Given the description of an element on the screen output the (x, y) to click on. 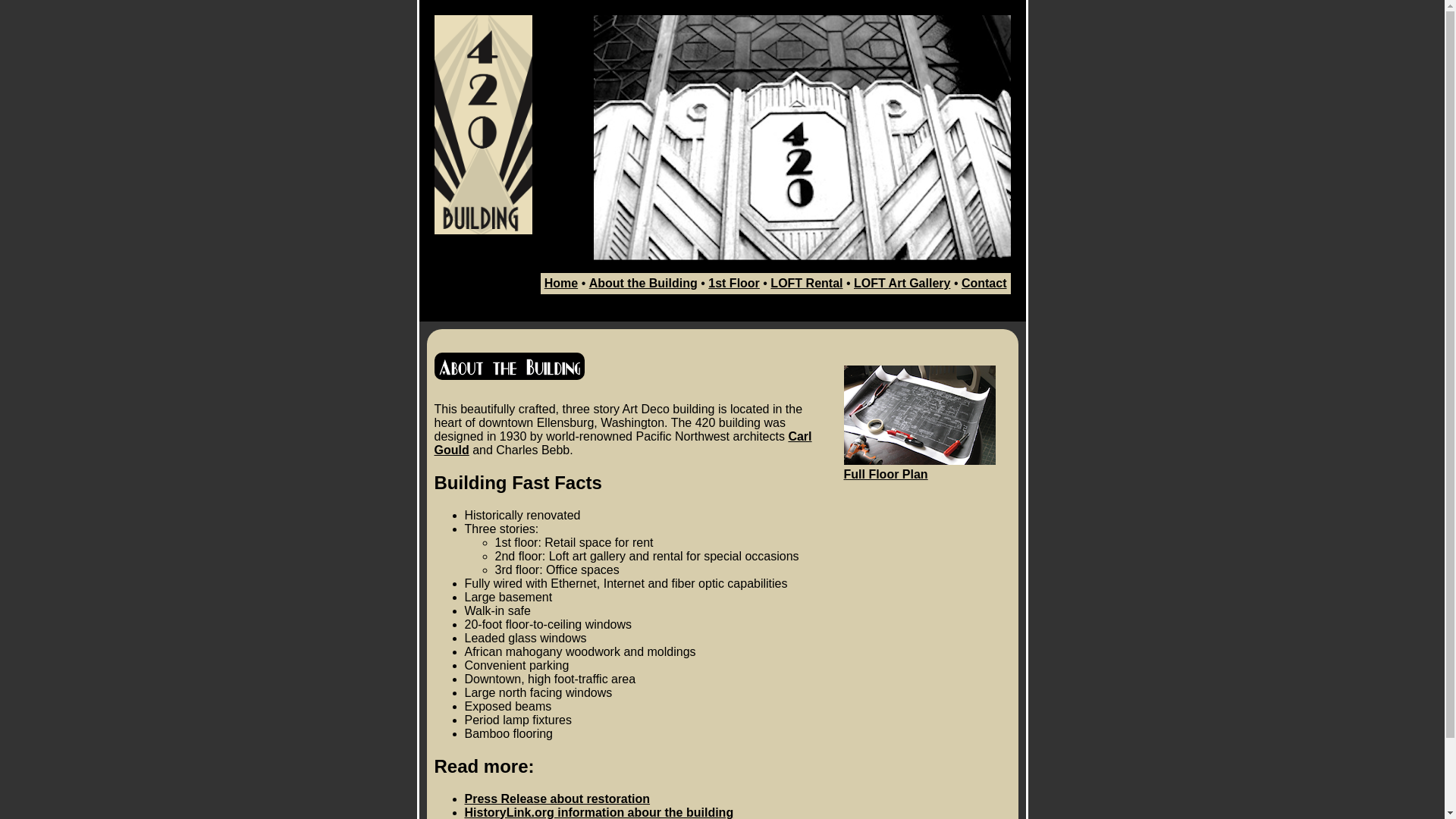
Home Element type: text (560, 282)
HistoryLink.org information abour the building Element type: text (598, 811)
Carl Gould Element type: text (622, 442)
Full Floor Plan Element type: text (918, 467)
Contact Element type: text (984, 282)
LOFT Rental Element type: text (806, 282)
1st Floor Element type: text (733, 282)
LOFT Art Gallery Element type: text (901, 282)
Press Release about restoration Element type: text (556, 797)
About the Building Element type: text (643, 282)
